Given the description of an element on the screen output the (x, y) to click on. 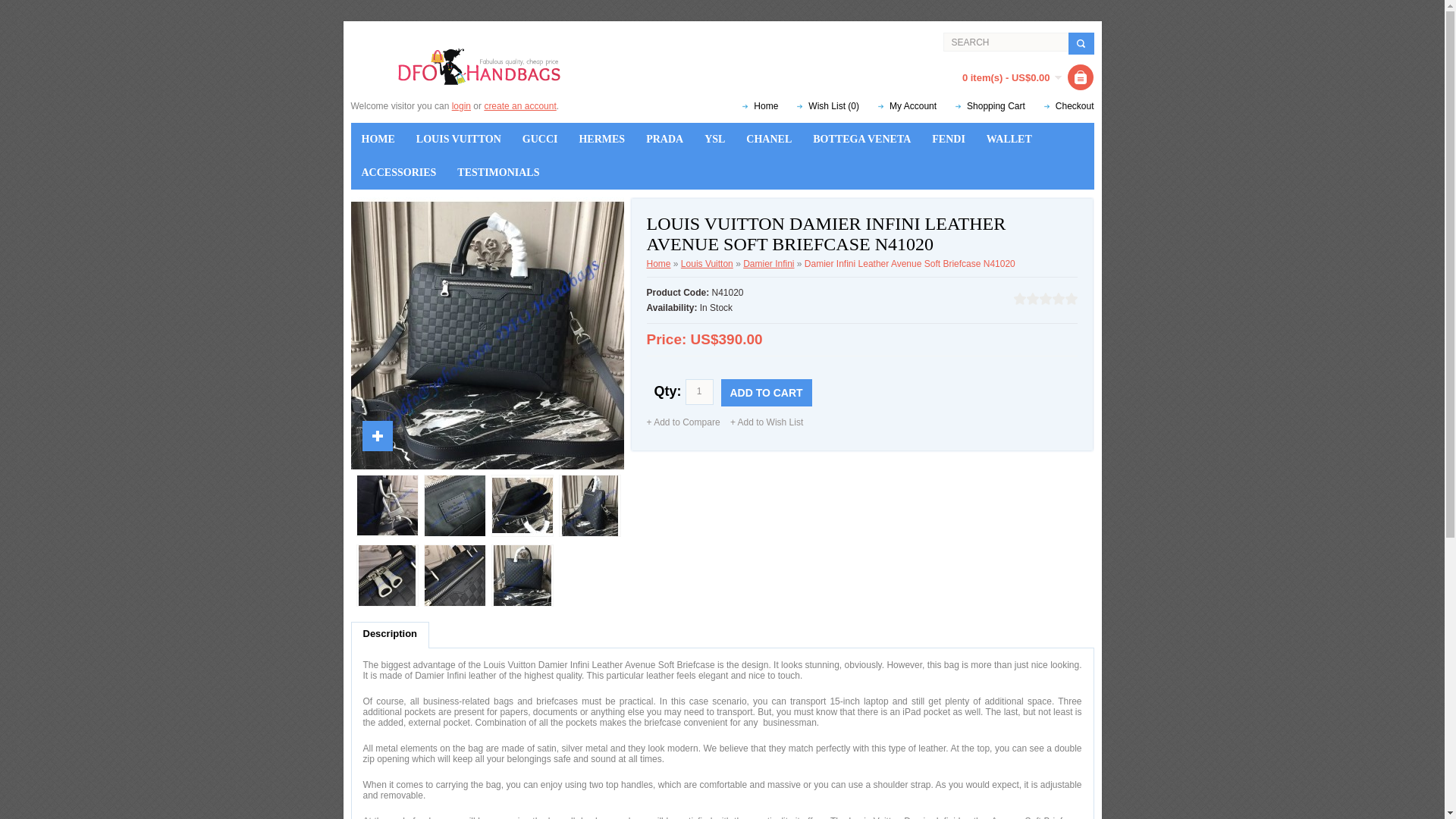
1 (699, 391)
Shopping Cart (990, 105)
HOME (377, 139)
LuxTime DFO Handbags (478, 66)
Search (1005, 41)
